Given the description of an element on the screen output the (x, y) to click on. 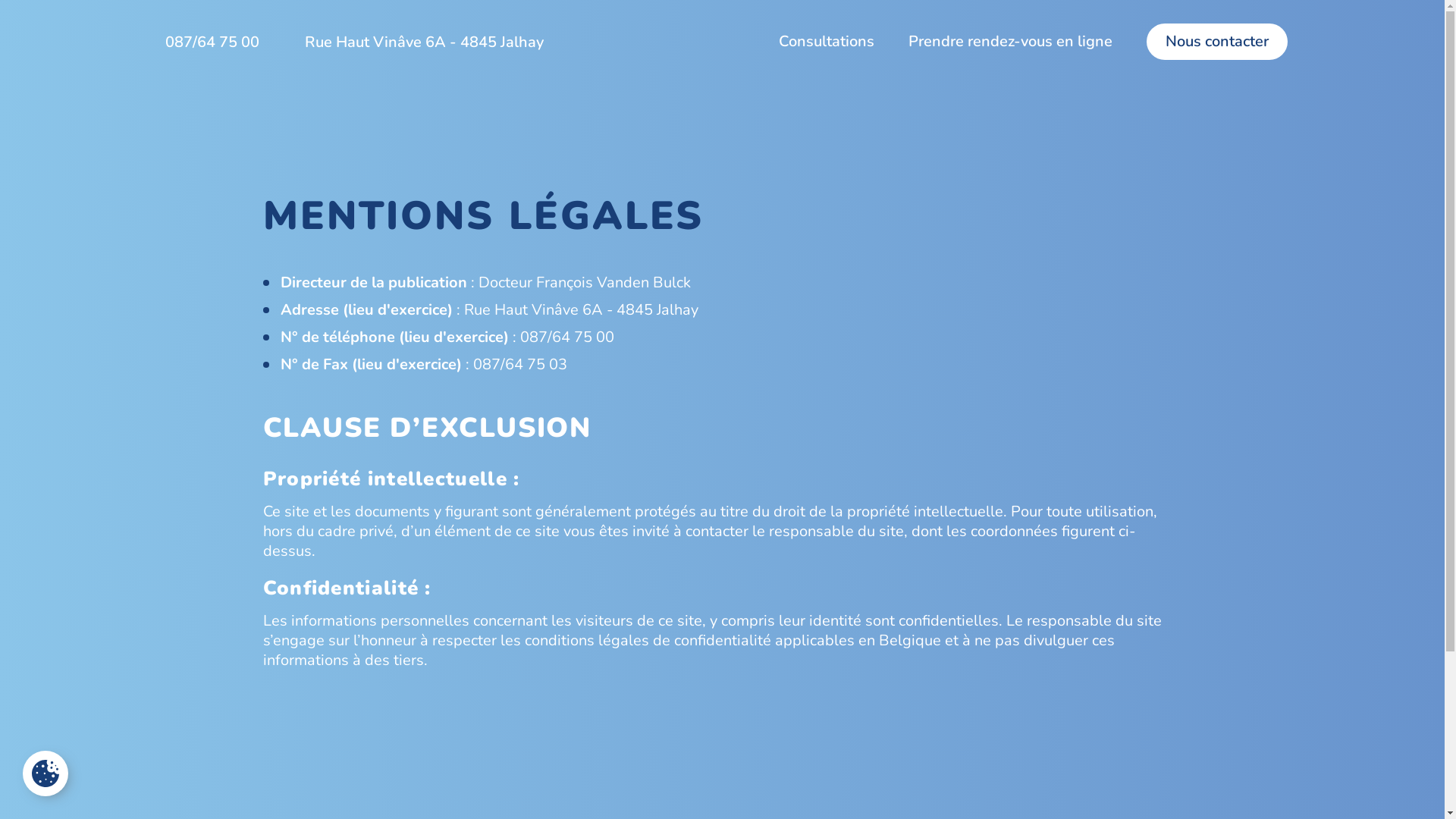
Prendre rendez-vous en ligne Element type: text (1010, 41)
Consultations Element type: text (825, 41)
087/64 75 00 Element type: text (208, 41)
Nous contacter Element type: text (1215, 41)
